Given the description of an element on the screen output the (x, y) to click on. 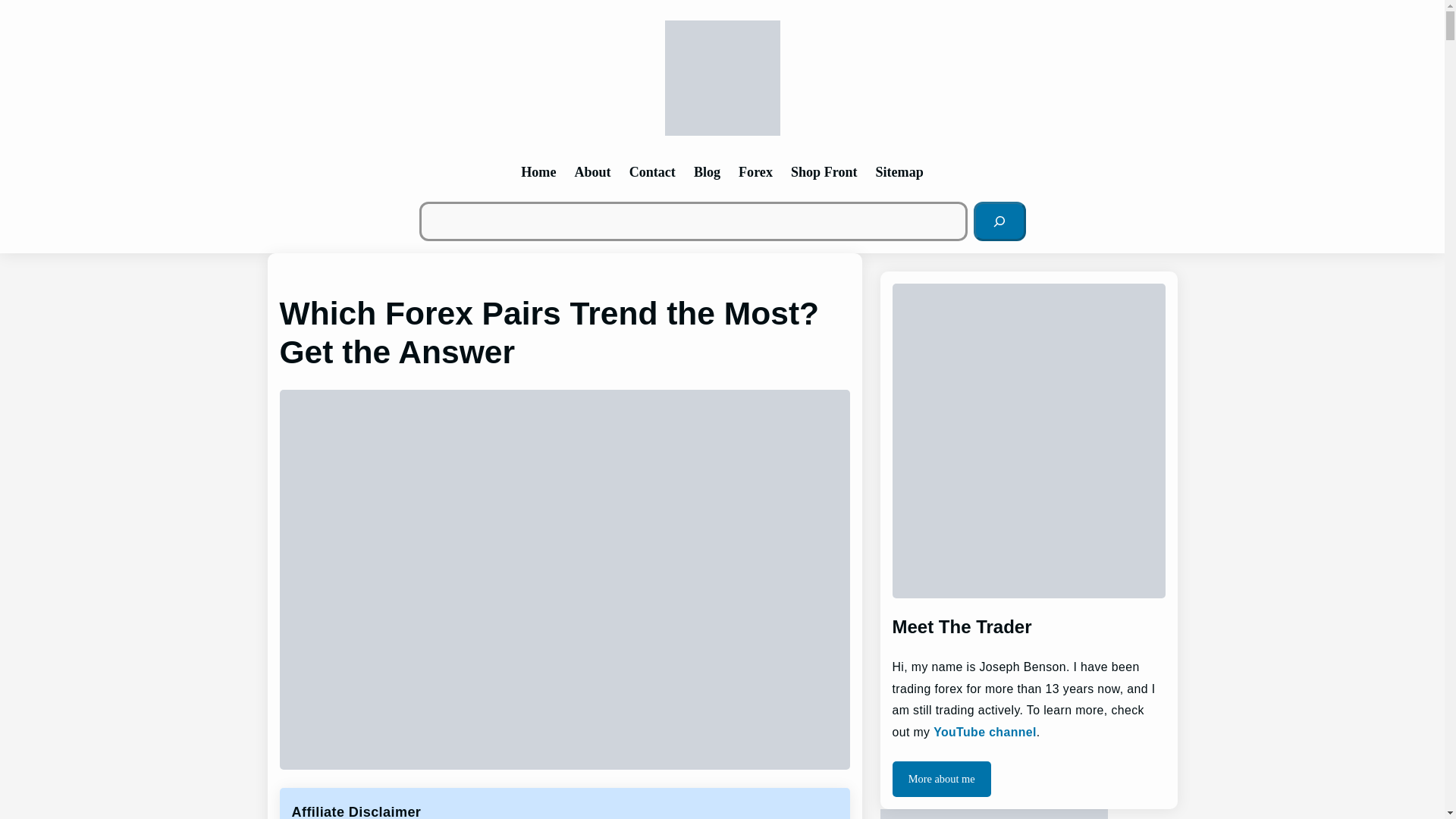
Blog (707, 172)
Sitemap (899, 172)
Contact (651, 172)
About (591, 172)
Forex (755, 172)
Home (538, 172)
Shop Front (823, 172)
